Given the description of an element on the screen output the (x, y) to click on. 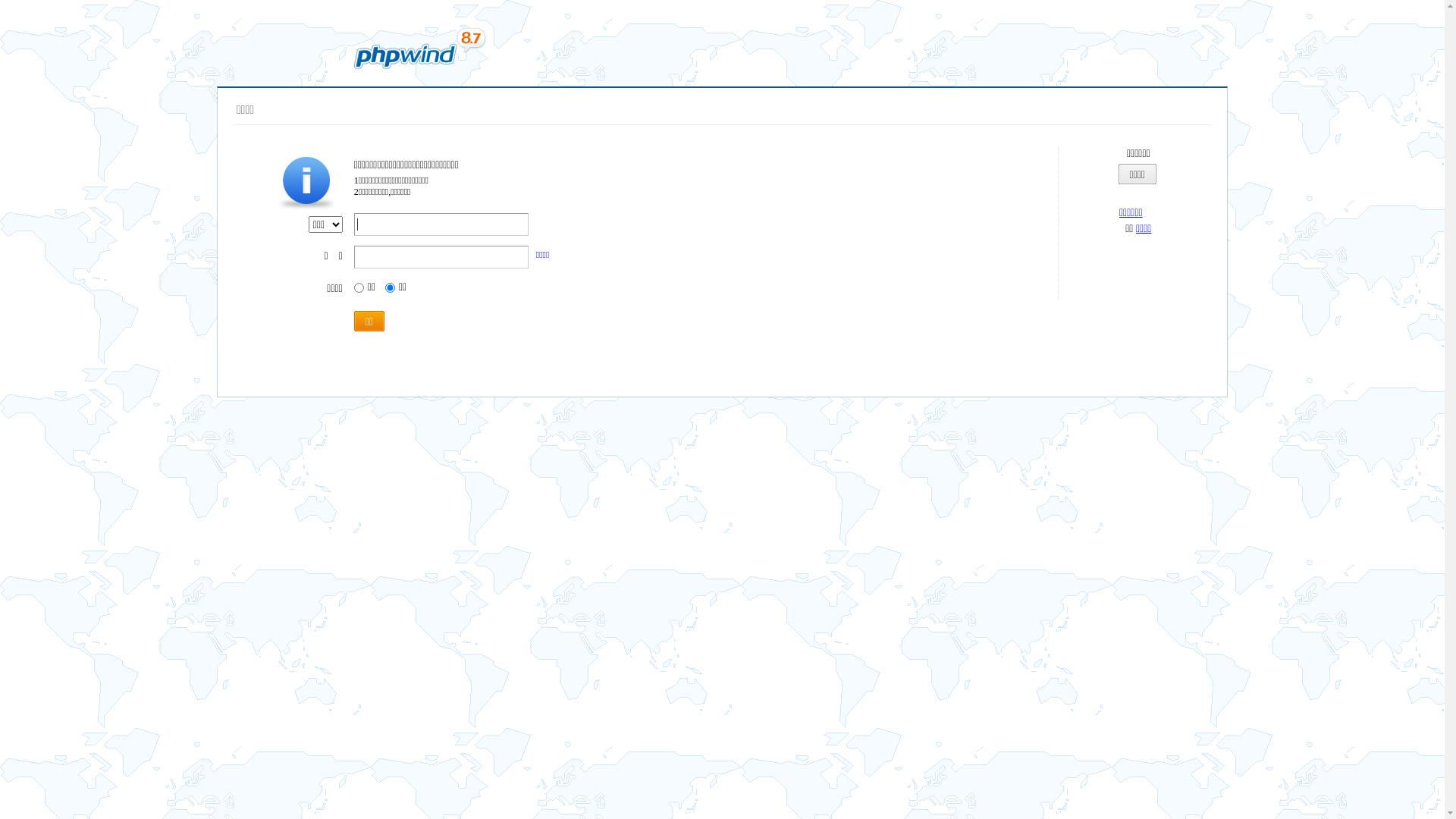
phpwind Element type: hover (418, 48)
